Given the description of an element on the screen output the (x, y) to click on. 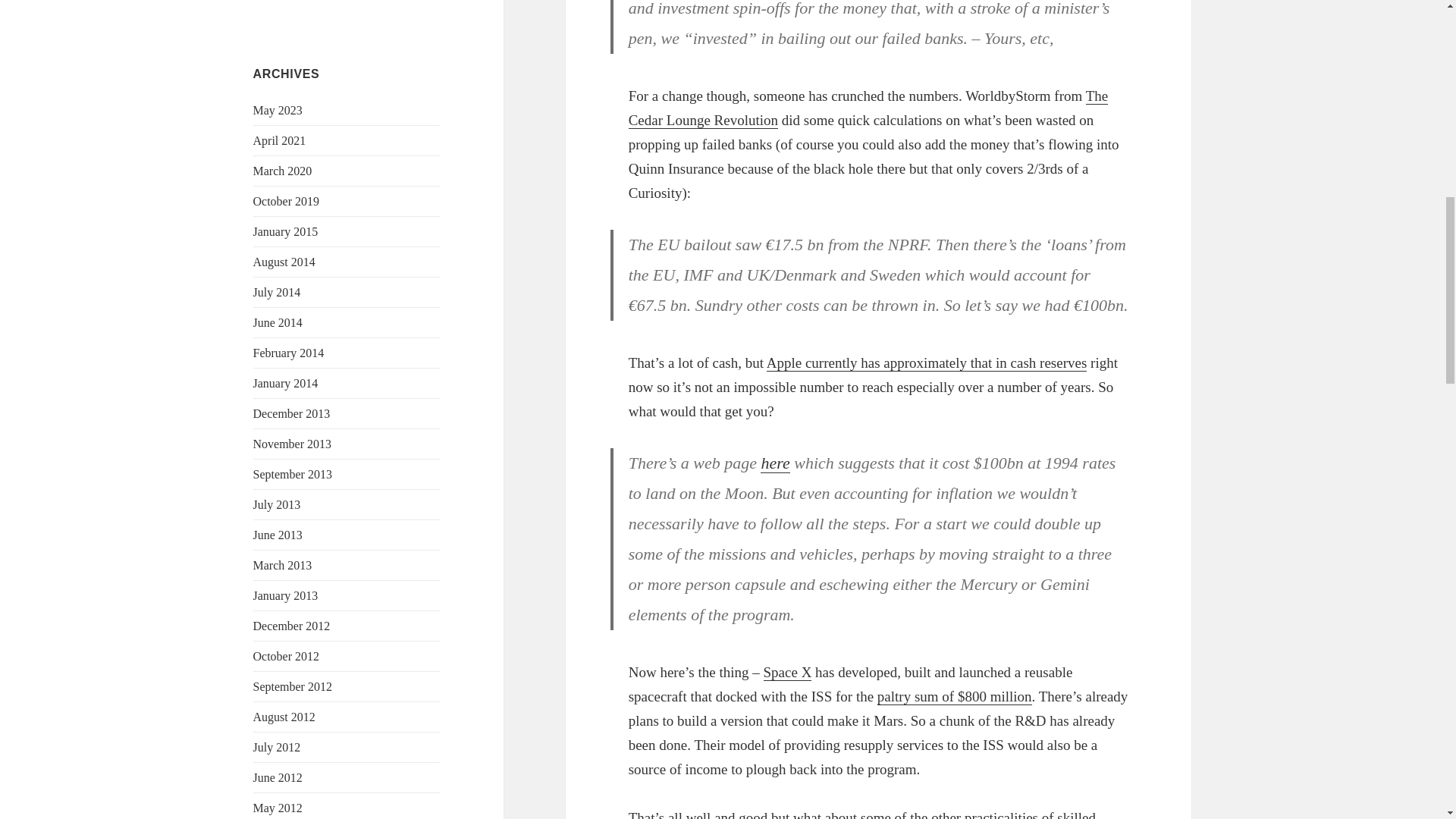
June 2014 (277, 322)
October 2019 (286, 201)
April 2021 (279, 140)
February 2014 (288, 352)
December 2013 (291, 413)
August 2012 (284, 716)
September 2013 (292, 473)
January 2014 (285, 382)
January 2015 (285, 231)
July 2014 (277, 291)
July 2012 (277, 747)
October 2012 (286, 656)
June 2013 (277, 534)
July 2013 (277, 504)
March 2013 (283, 564)
